Given the description of an element on the screen output the (x, y) to click on. 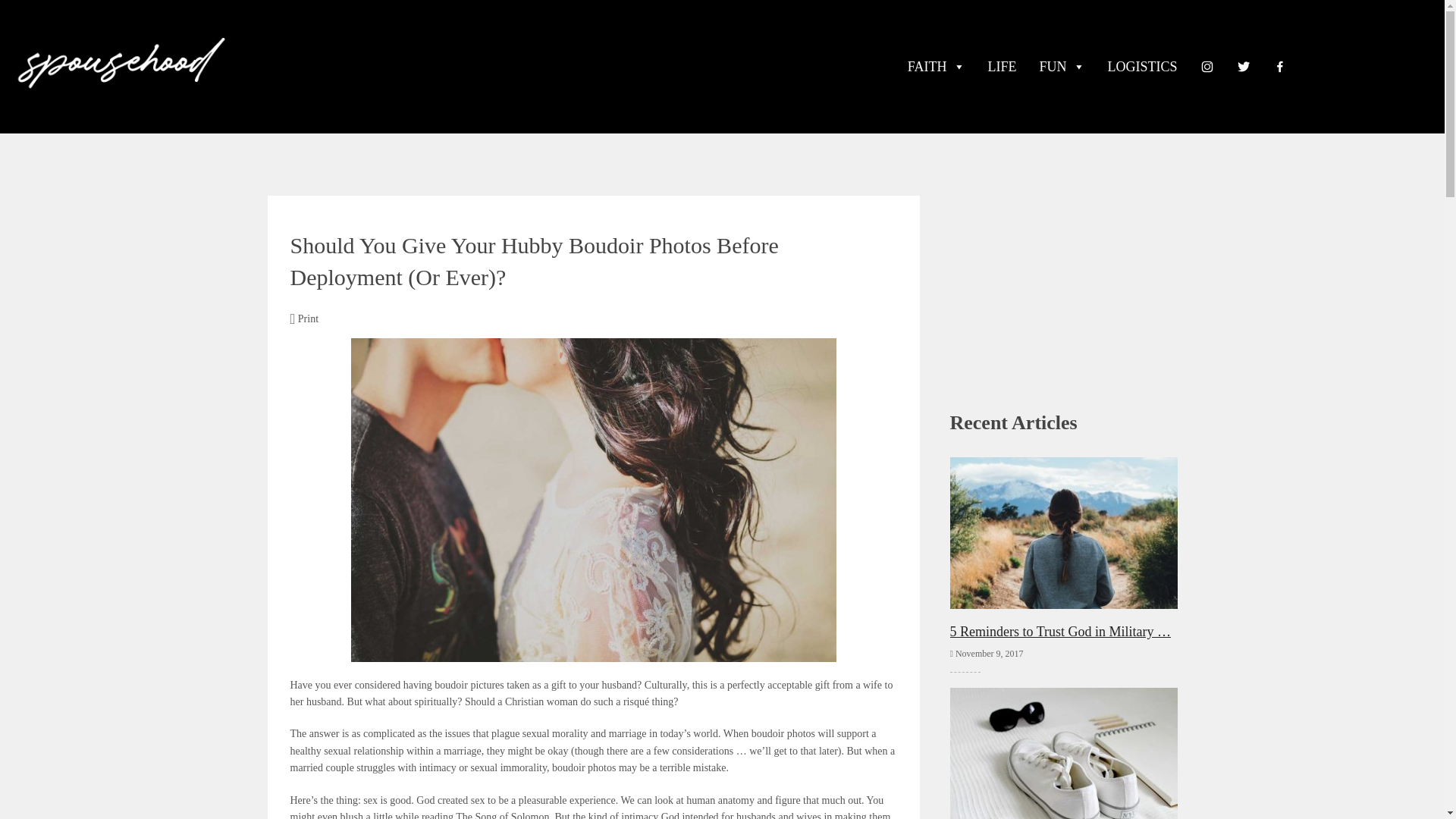
FUN (1061, 66)
LOGISTICS (1142, 66)
LIFE (1001, 66)
FAITH (936, 66)
Advertisement (1062, 266)
5 Reminders to Trust God in Military Life (1062, 547)
